Given the description of an element on the screen output the (x, y) to click on. 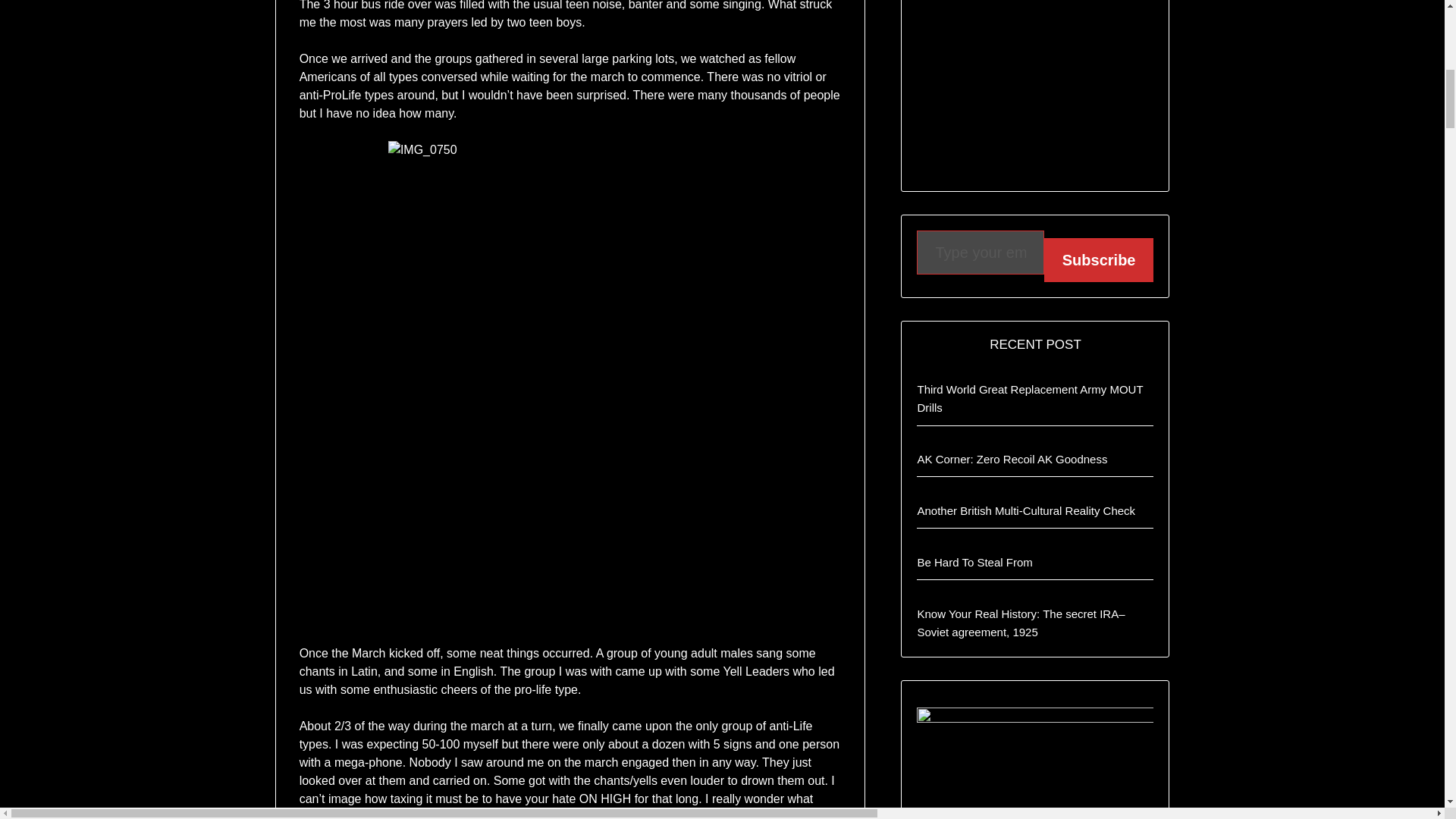
Third World Great Replacement Army MOUT Drills (1029, 398)
AK Corner: Zero Recoil AK Goodness (1011, 459)
Subscribe (1098, 259)
Be Hard To Steal From (974, 562)
Another British Multi-Cultural Reality Check (1026, 510)
